Given the description of an element on the screen output the (x, y) to click on. 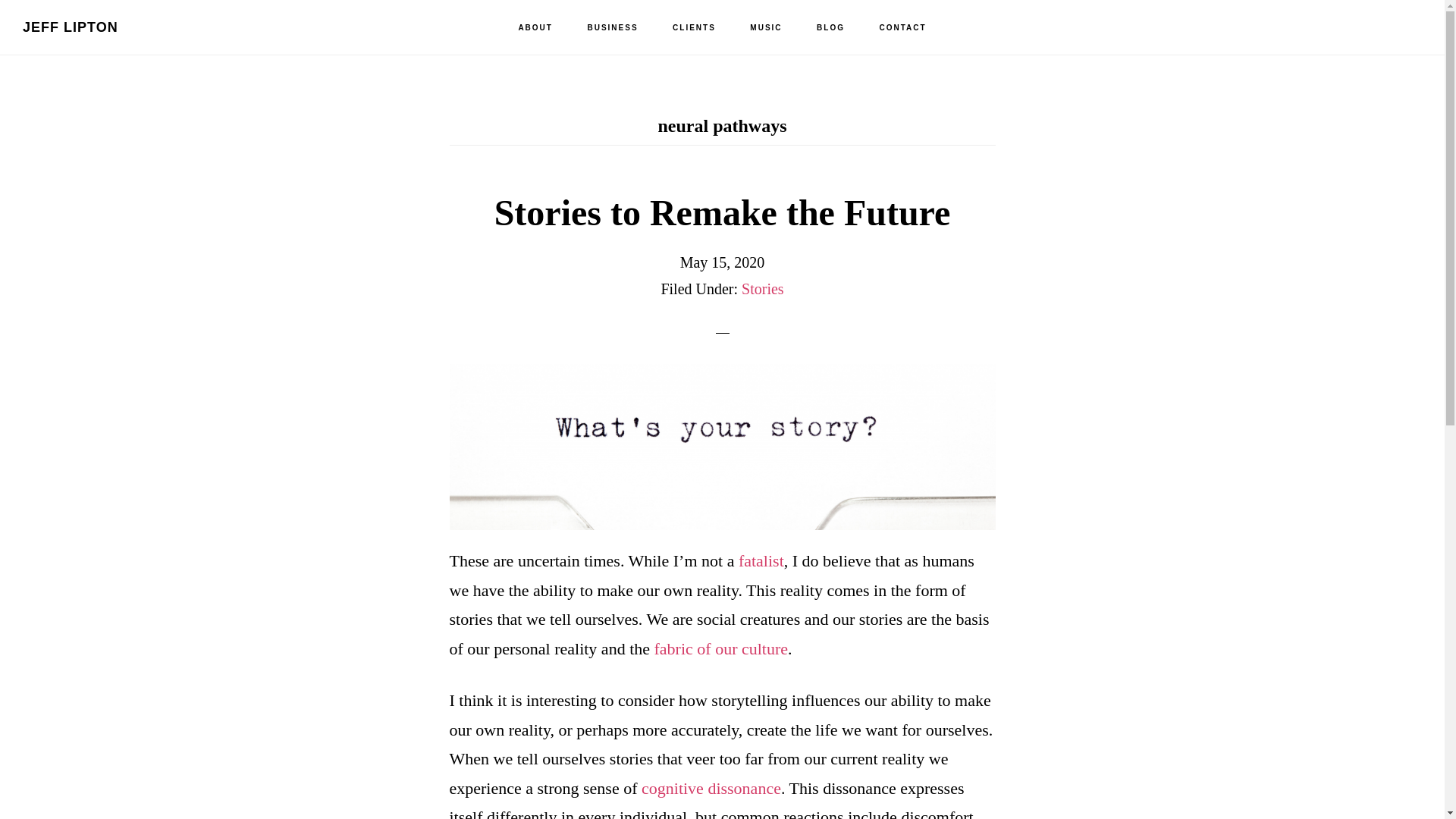
BLOG (831, 27)
Stories (762, 288)
CLIENTS (694, 27)
BUSINESS (612, 27)
cognitive dissonance (711, 787)
fabric of our culture (721, 648)
JEFF LIPTON (70, 27)
Stories to Remake the Future (722, 212)
ABOUT (534, 27)
